Given the description of an element on the screen output the (x, y) to click on. 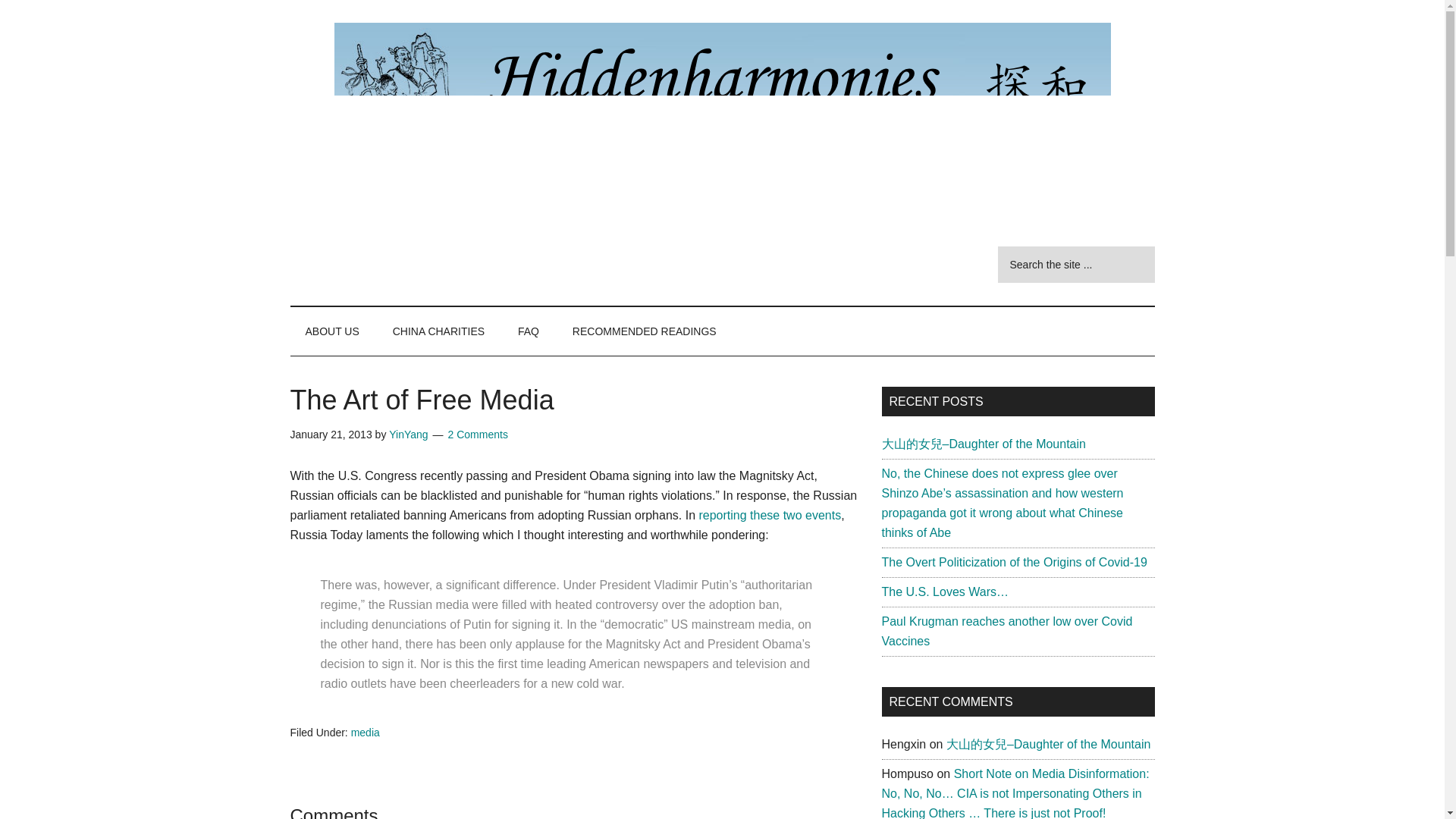
CHINA CHARITIES (438, 331)
RECOMMENDED READINGS (644, 331)
2 Comments (478, 434)
FAQ (528, 331)
The Overt Politicization of the Origins of Covid-19 (1013, 562)
YinYang (408, 434)
media (365, 732)
Paul Krugman reaches another low over Covid Vaccines (1006, 631)
reporting these two events (769, 514)
ABOUT US (331, 331)
